Given the description of an element on the screen output the (x, y) to click on. 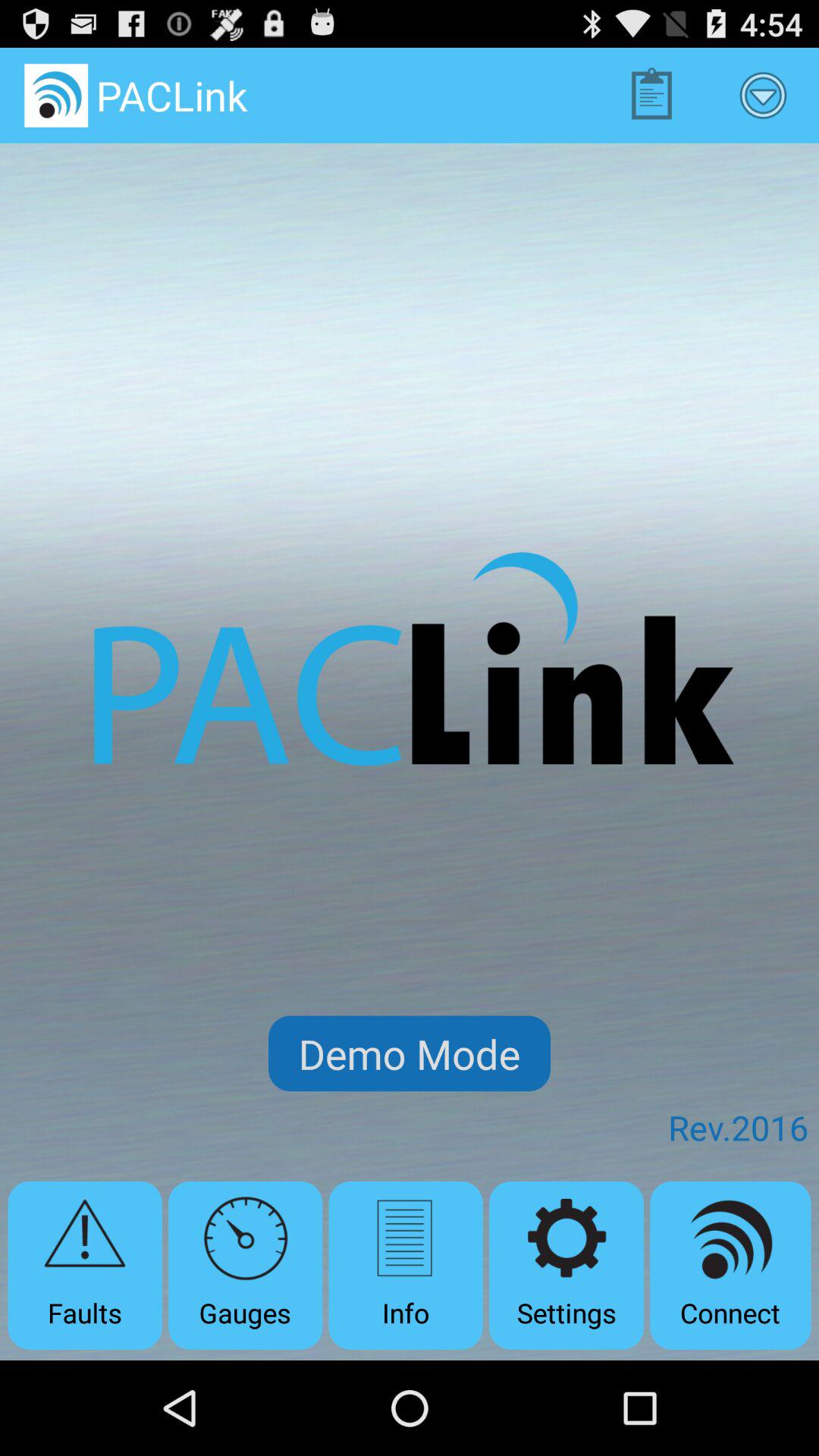
turn on info button (405, 1265)
